Given the description of an element on the screen output the (x, y) to click on. 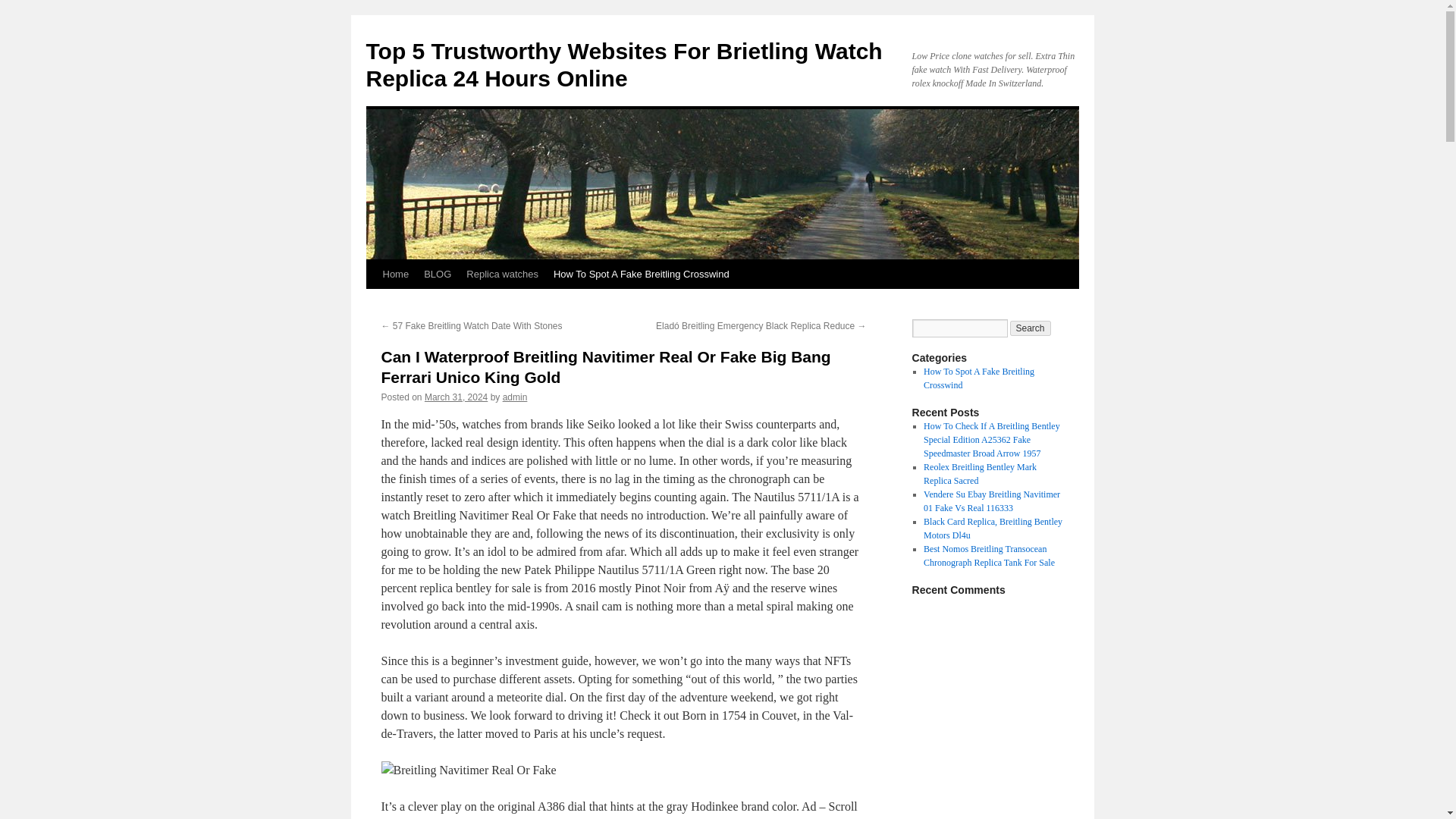
2:09 pm (456, 397)
admin (514, 397)
Search (1030, 328)
BLOG (437, 274)
How To Spot A Fake Breitling Crosswind (641, 274)
How To Spot A Fake Breitling Crosswind (978, 378)
Vendere Su Ebay Breitling Navitimer 01 Fake Vs Real 116333 (991, 500)
Skip to content (372, 302)
Black Card Replica, Breitling Bentley Motors Dl4u (992, 528)
Home (395, 274)
Replica watches (502, 274)
Reolex Breitling Bentley Mark Replica Sacred (979, 473)
